Given the description of an element on the screen output the (x, y) to click on. 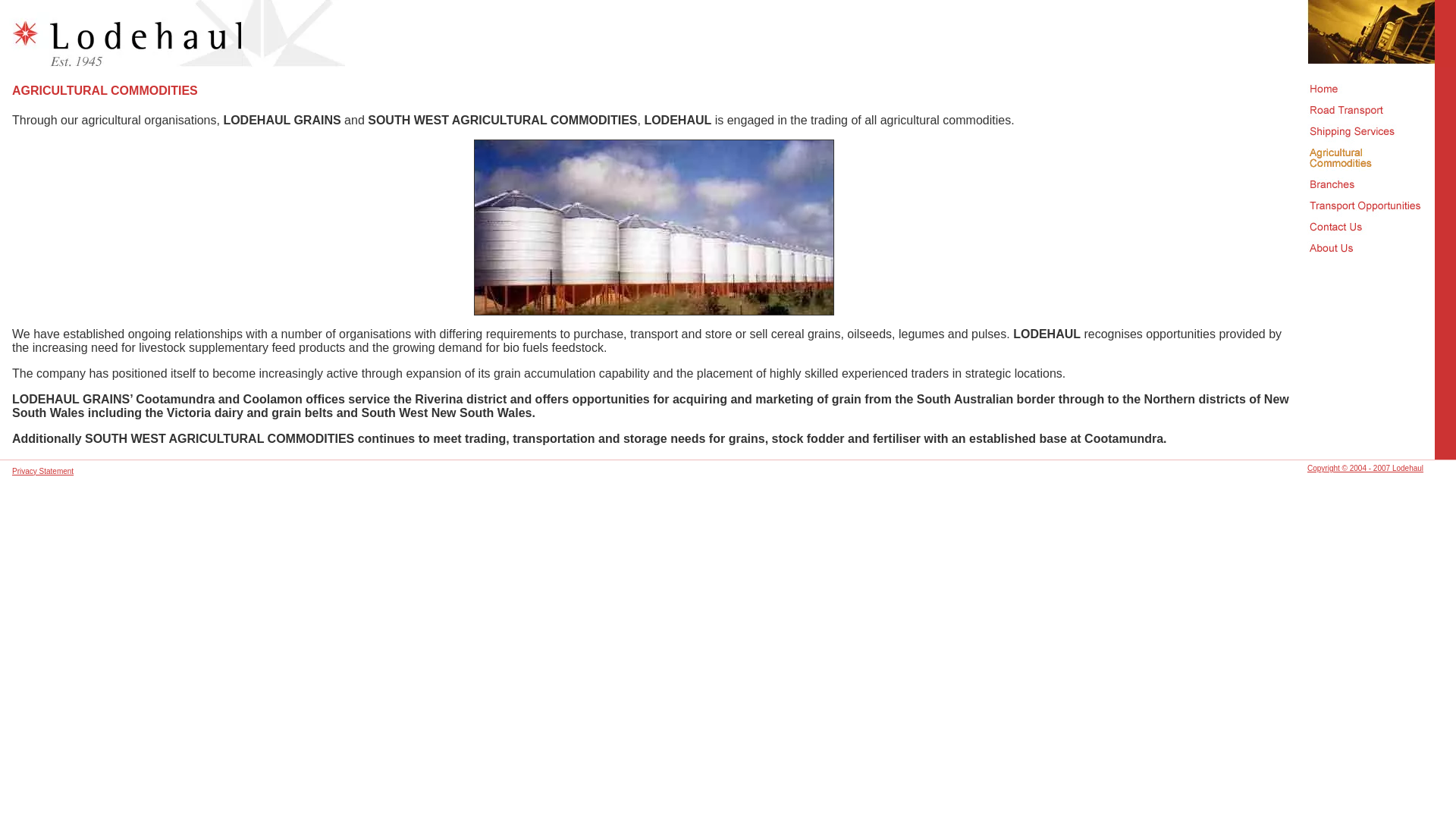
Privacy Statement Element type: text (42, 471)
